Given the description of an element on the screen output the (x, y) to click on. 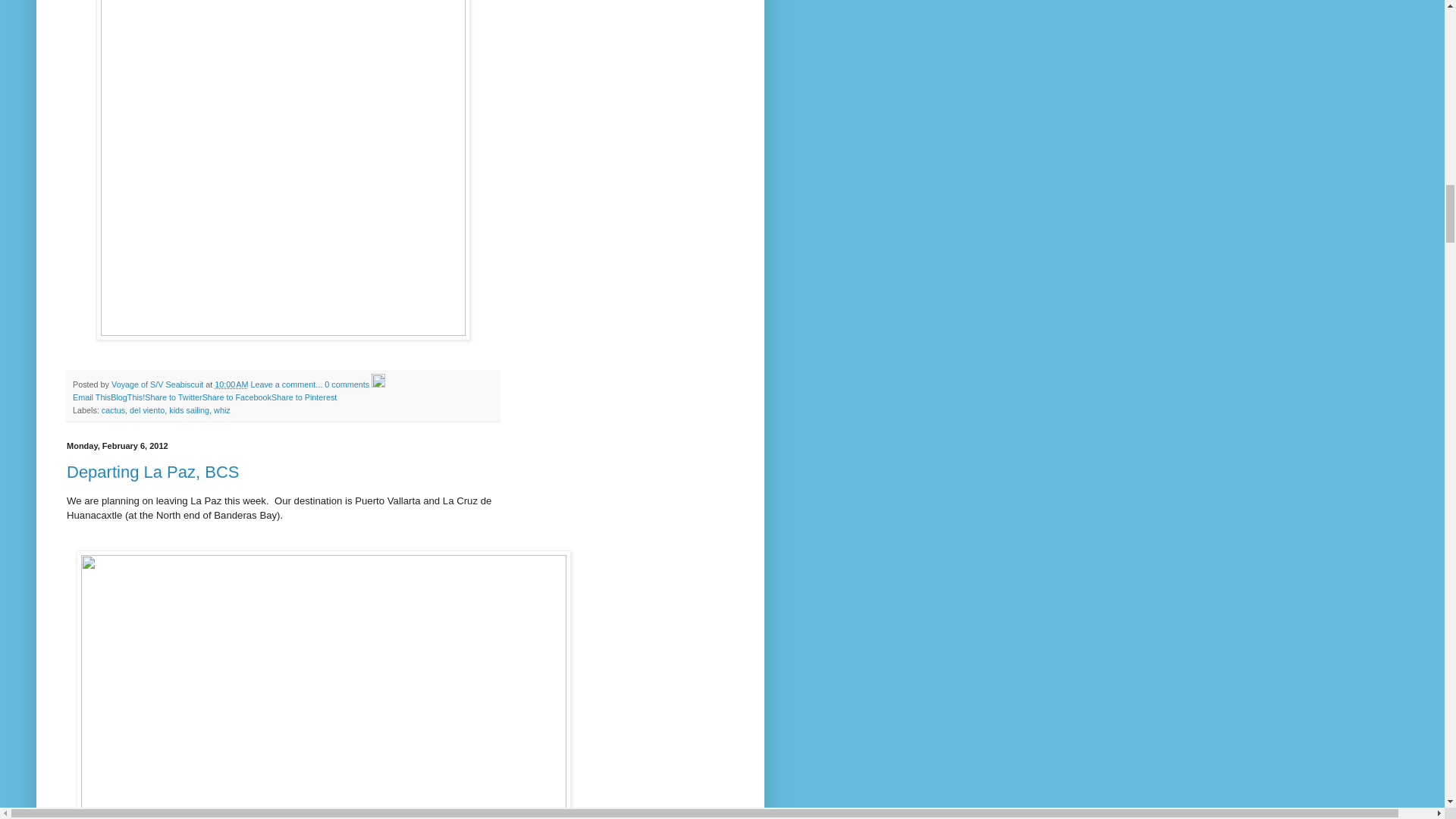
kids sailing (188, 409)
permanent link (230, 384)
Share to Pinterest (303, 397)
Share to Twitter (173, 397)
Email This (91, 397)
Share to Twitter (173, 397)
cactus (113, 409)
Edit Post (378, 384)
Email This (91, 397)
Share to Pinterest (303, 397)
author profile (158, 384)
Share to Facebook (236, 397)
del viento (146, 409)
Departing La Paz, BCS (152, 471)
Leave a comment... 0 comments (309, 384)
